Given the description of an element on the screen output the (x, y) to click on. 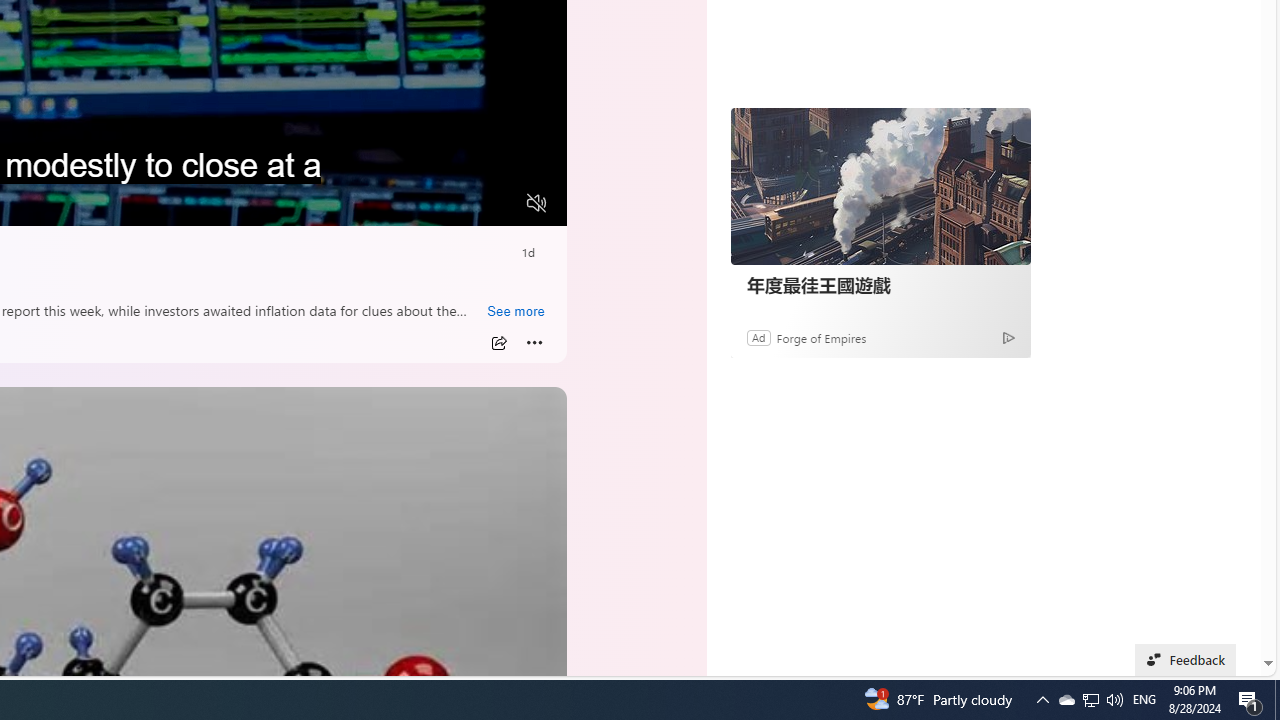
More (534, 343)
